Given the description of an element on the screen output the (x, y) to click on. 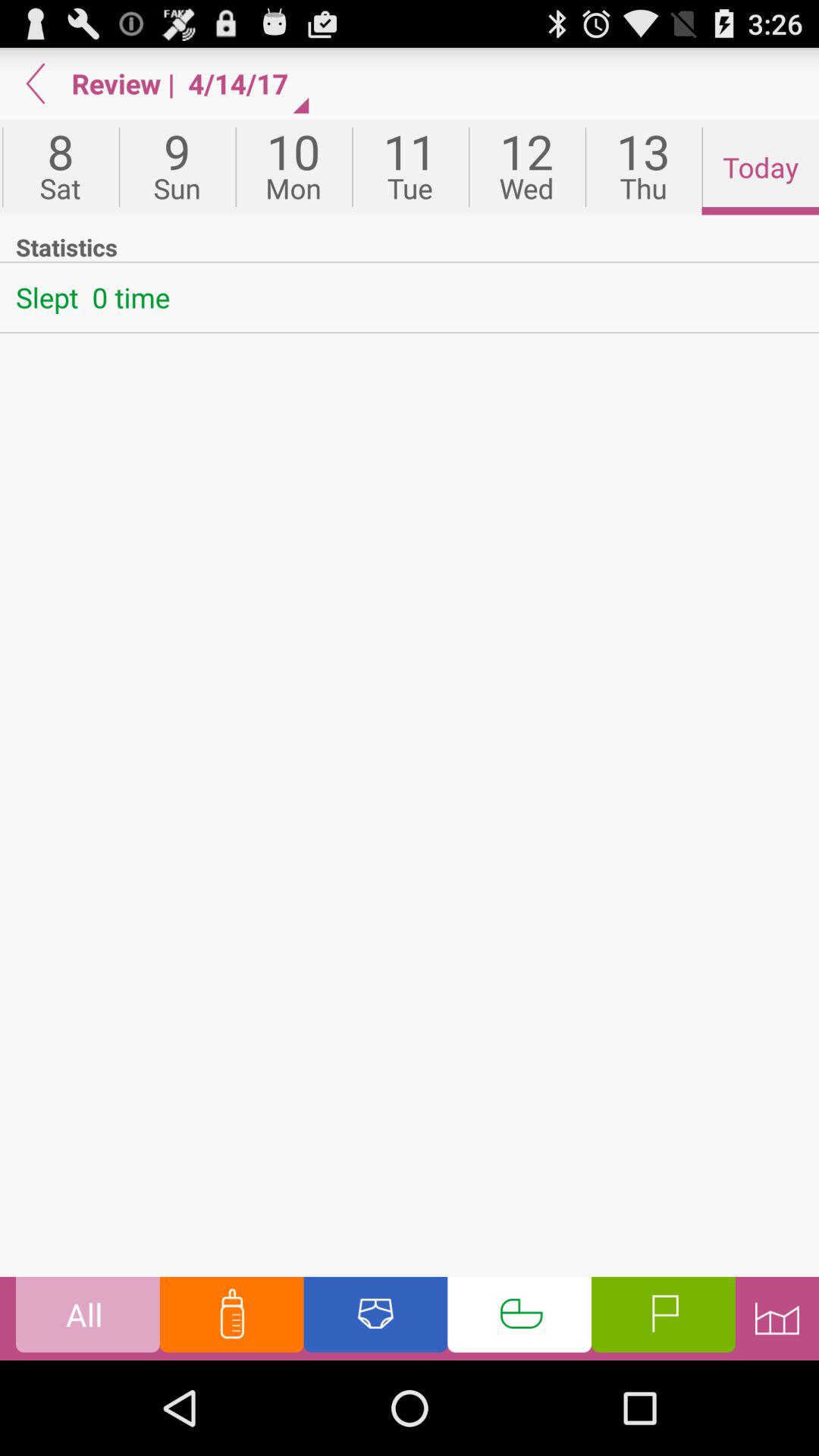
click 4/14/17 button (244, 83)
